Given the description of an element on the screen output the (x, y) to click on. 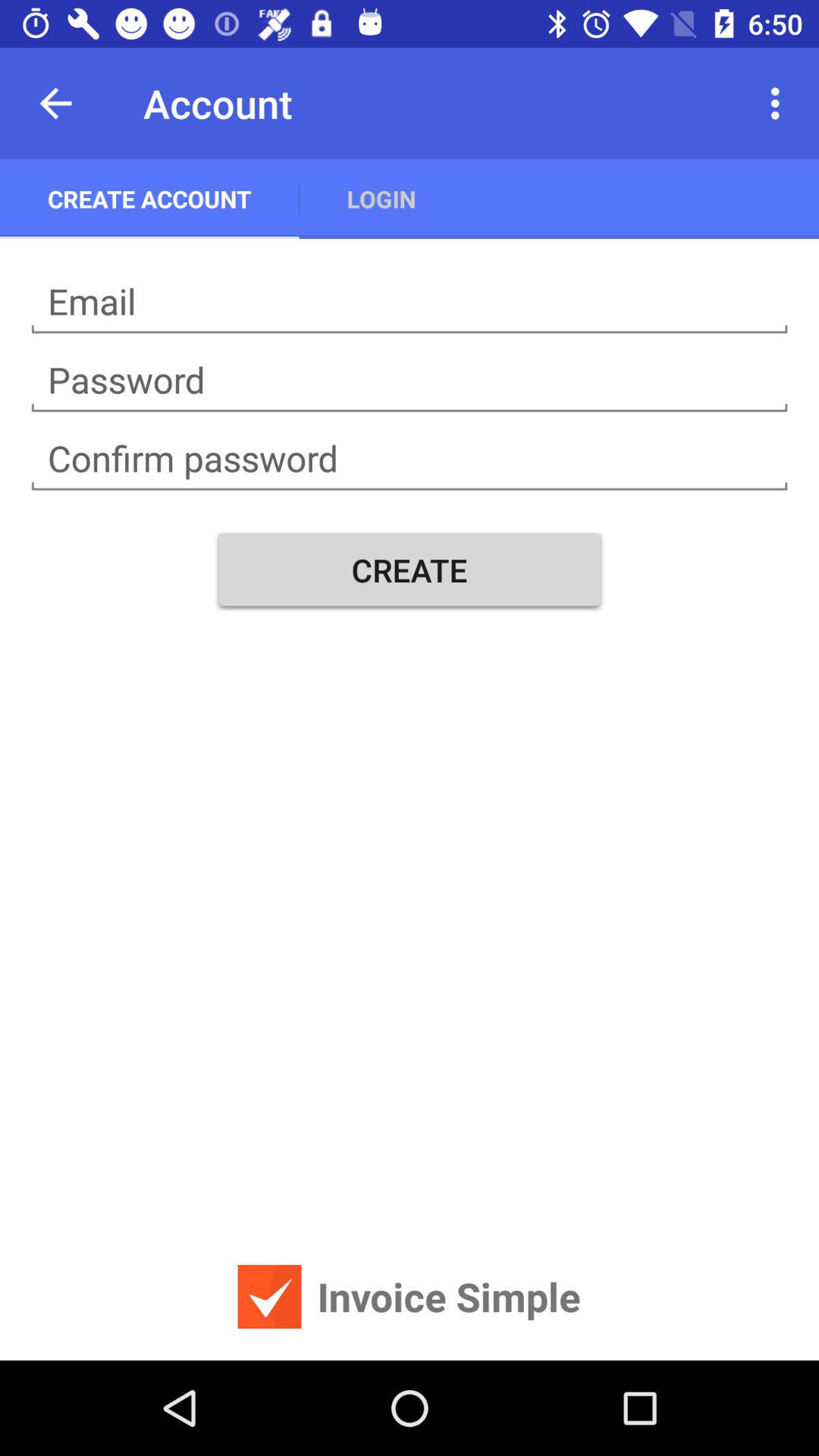
turn on the login (381, 198)
